Given the description of an element on the screen output the (x, y) to click on. 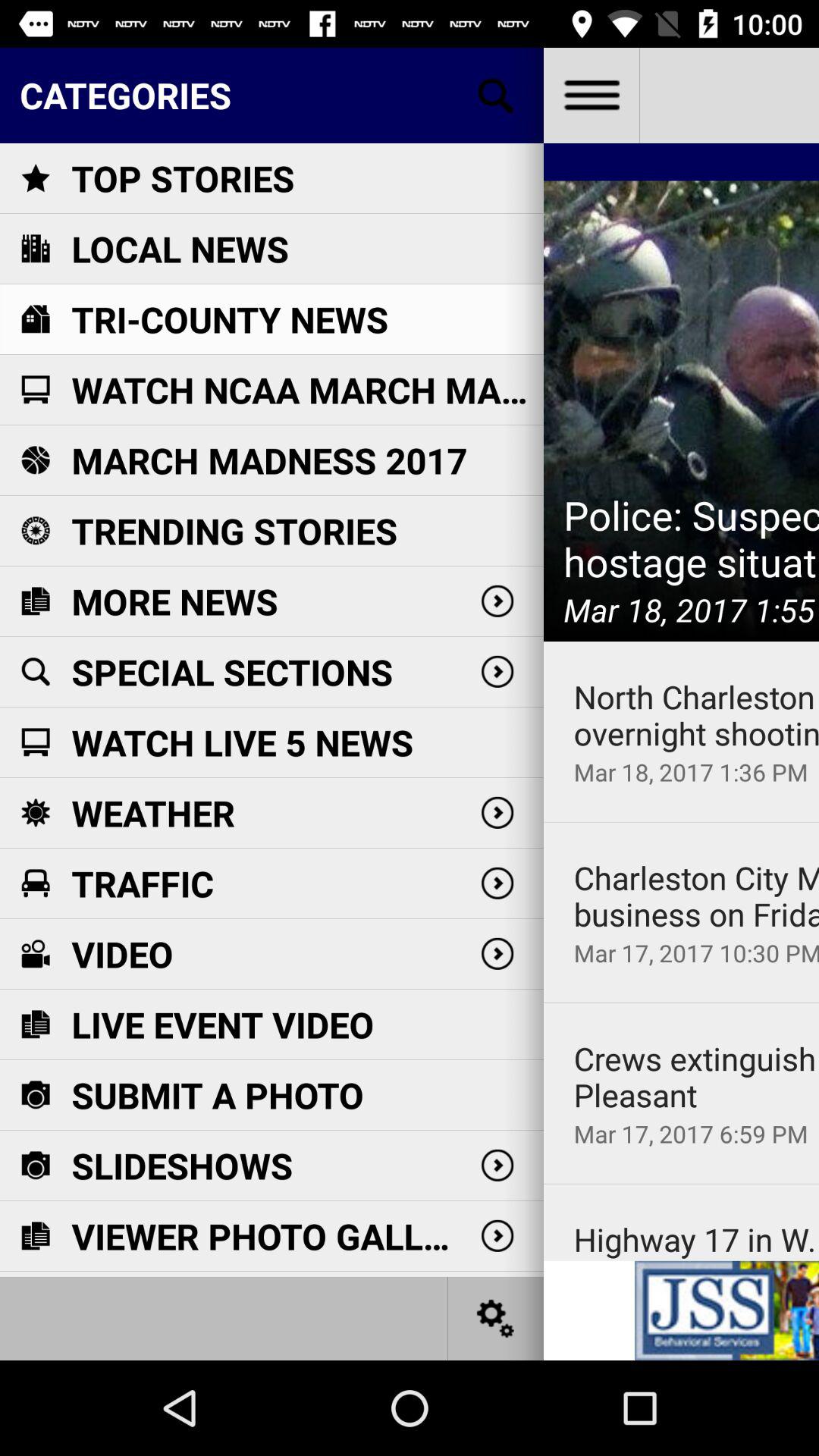
launch the item to the right of the live event video (696, 1076)
